Given the description of an element on the screen output the (x, y) to click on. 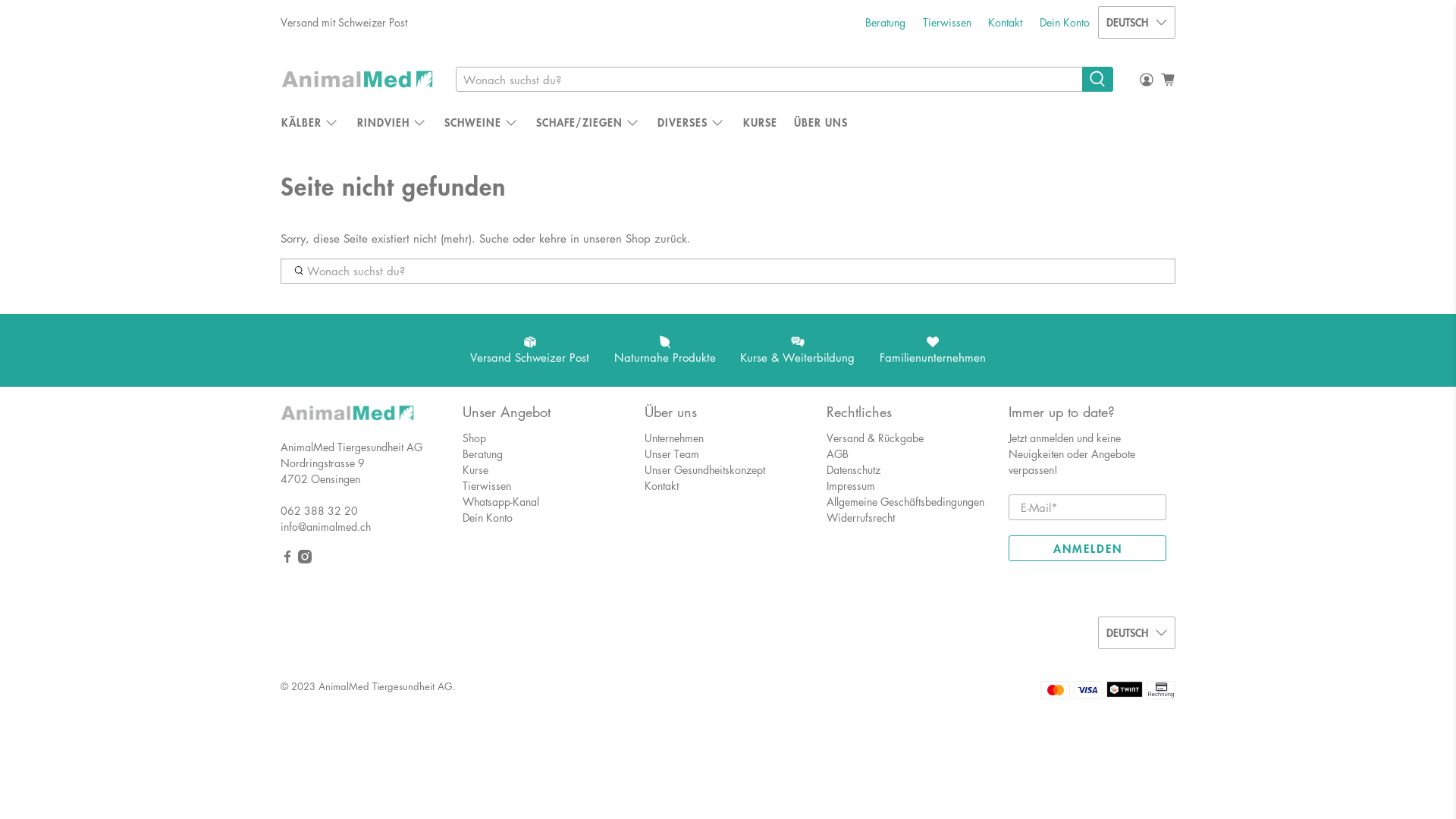
Nordringstrasse 9
4702 Oensingen Element type: text (322, 470)
Tierwissen Element type: text (486, 484)
AGB Element type: text (837, 453)
062 388 32 20 Element type: text (318, 509)
Impressum Element type: text (850, 484)
Unser Team Element type: text (671, 453)
AnimalMed Tiergesundheit AG Element type: hover (347, 420)
DIVERSES Element type: text (691, 122)
info@animalmed.ch Element type: text (325, 525)
Unser Gesundheitskonzept Element type: text (704, 468)
fr Element type: text (1136, 90)
SCHWEINE Element type: text (481, 122)
AnimalMed Tiergesundheit AG on Facebook Element type: hover (287, 558)
Kurse Element type: text (475, 468)
RINDVIEH Element type: text (391, 122)
de Element type: text (1136, 561)
Beratung Element type: text (885, 22)
fr Element type: text (1136, 592)
AnimalMed Tiergesundheit AG on Instagram Element type: hover (304, 558)
AnimalMed Tiergesundheit AG Element type: text (385, 685)
Dein Konto Element type: text (487, 516)
Tierwissen Element type: text (947, 22)
SCHAFE/ZIEGEN Element type: text (588, 122)
KURSE Element type: text (759, 122)
Kontakt Element type: text (1005, 22)
DEUTSCH Element type: text (1136, 632)
Whatsapp-Kanal Element type: text (500, 500)
Unternehmen Element type: text (673, 437)
Kontakt Element type: text (661, 484)
de Element type: text (1136, 59)
Beratung Element type: text (482, 453)
AnimalMed Tiergesundheit AG Element type: hover (357, 78)
Shop Element type: text (474, 437)
ANMELDEN Element type: text (1087, 548)
Datenschutz Element type: text (853, 468)
Widerrufsrecht Element type: text (860, 516)
Kurse & Weiterbildung Element type: text (797, 350)
Dein Konto Element type: text (1064, 22)
DEUTSCH Element type: text (1136, 22)
